Given the description of an element on the screen output the (x, y) to click on. 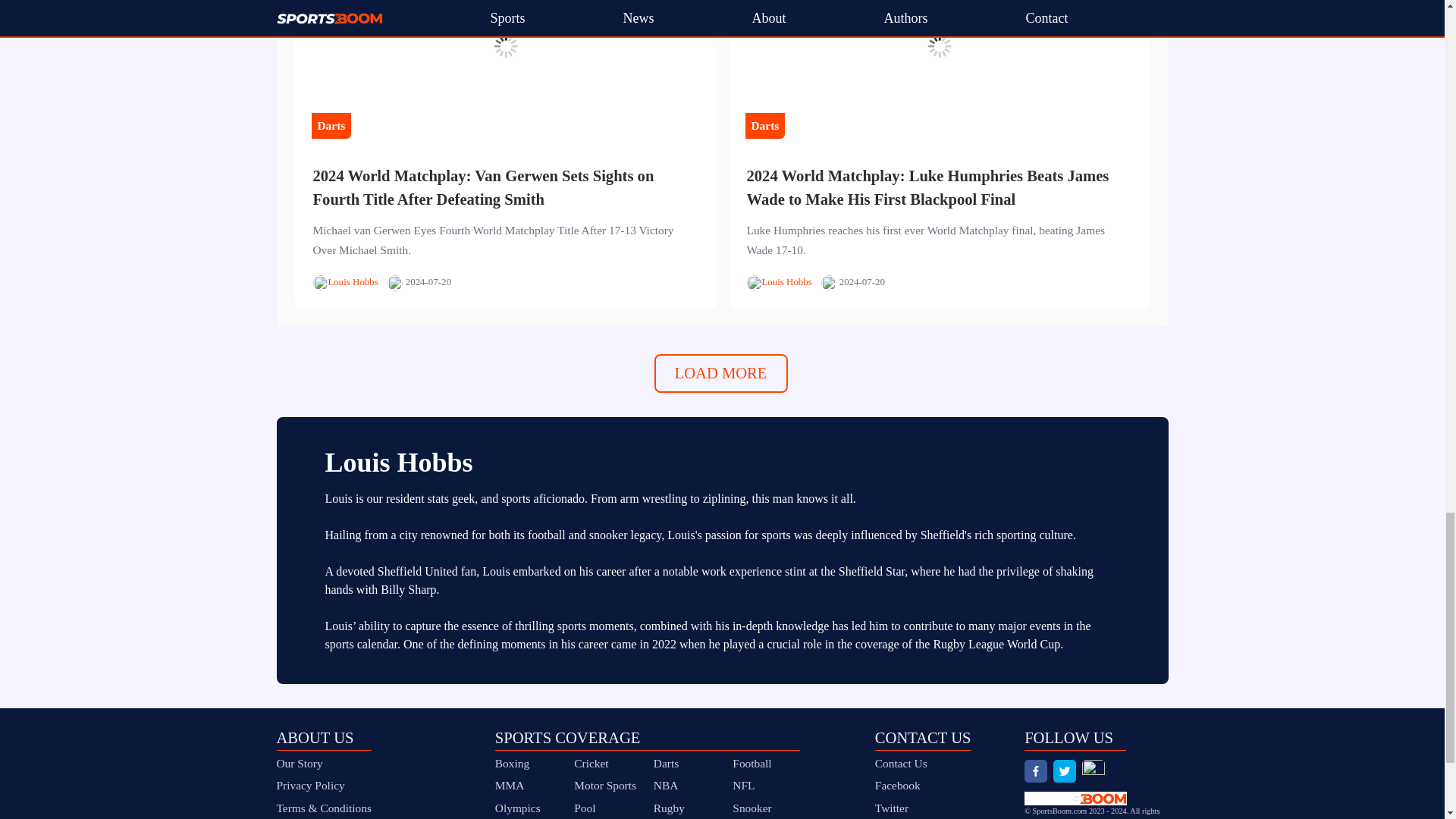
Pool (584, 807)
Darts (665, 762)
Privacy Policy (323, 785)
Our Story (323, 763)
NBA (665, 784)
Snooker (751, 807)
Rugby (668, 807)
Motor Sports (604, 784)
NFL (743, 784)
Football (751, 762)
Boxing (512, 762)
Olympics (517, 807)
MMA (509, 784)
